Given the description of an element on the screen output the (x, y) to click on. 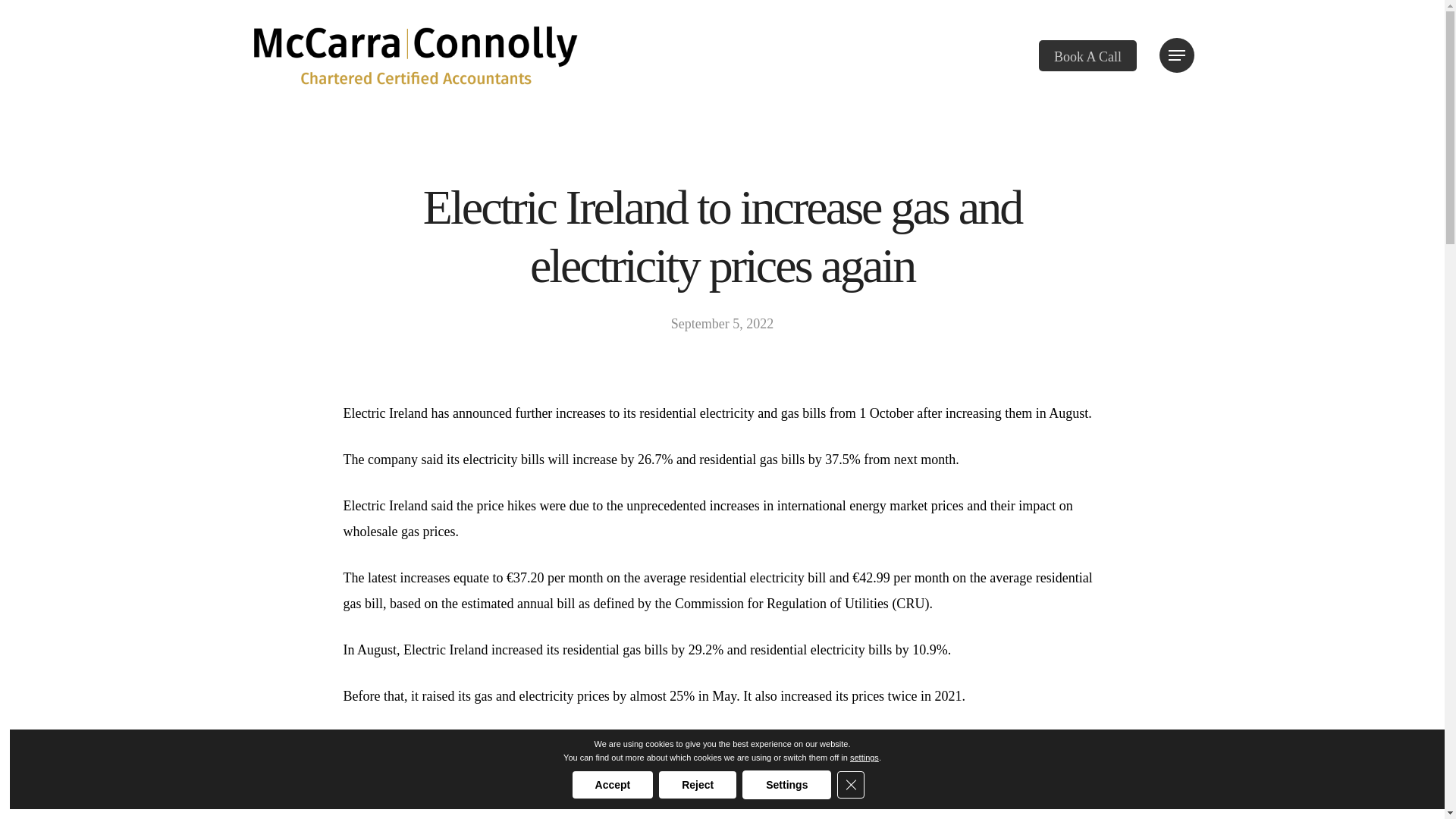
Menu (1175, 54)
Book A Call (1088, 54)
